Given the description of an element on the screen output the (x, y) to click on. 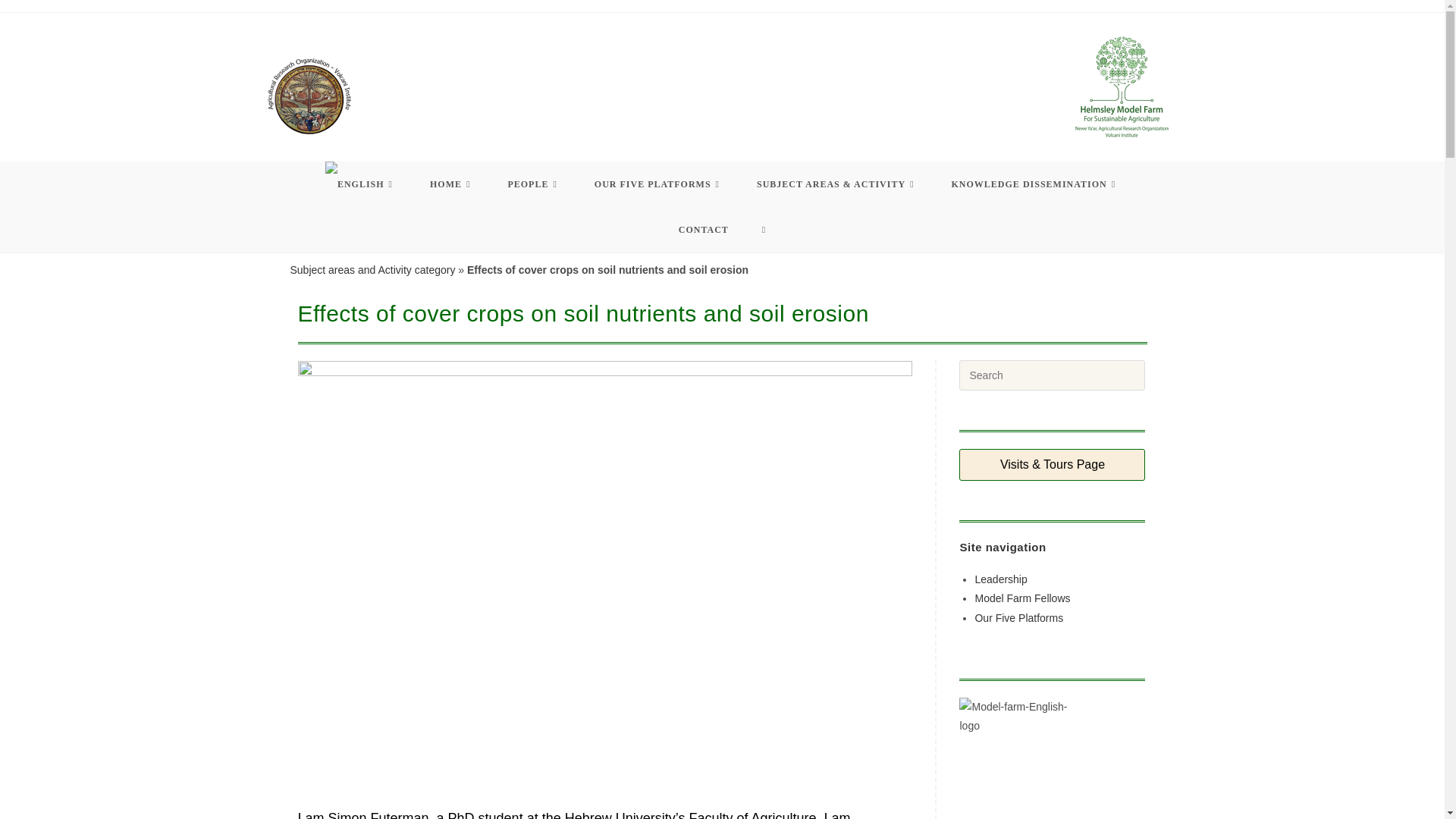
KNOWLEDGE DISSEMINATION (1035, 184)
OUR FIVE PLATFORMS (658, 184)
PEOPLE (533, 184)
CONTACT (703, 229)
HOME (451, 184)
